Given the description of an element on the screen output the (x, y) to click on. 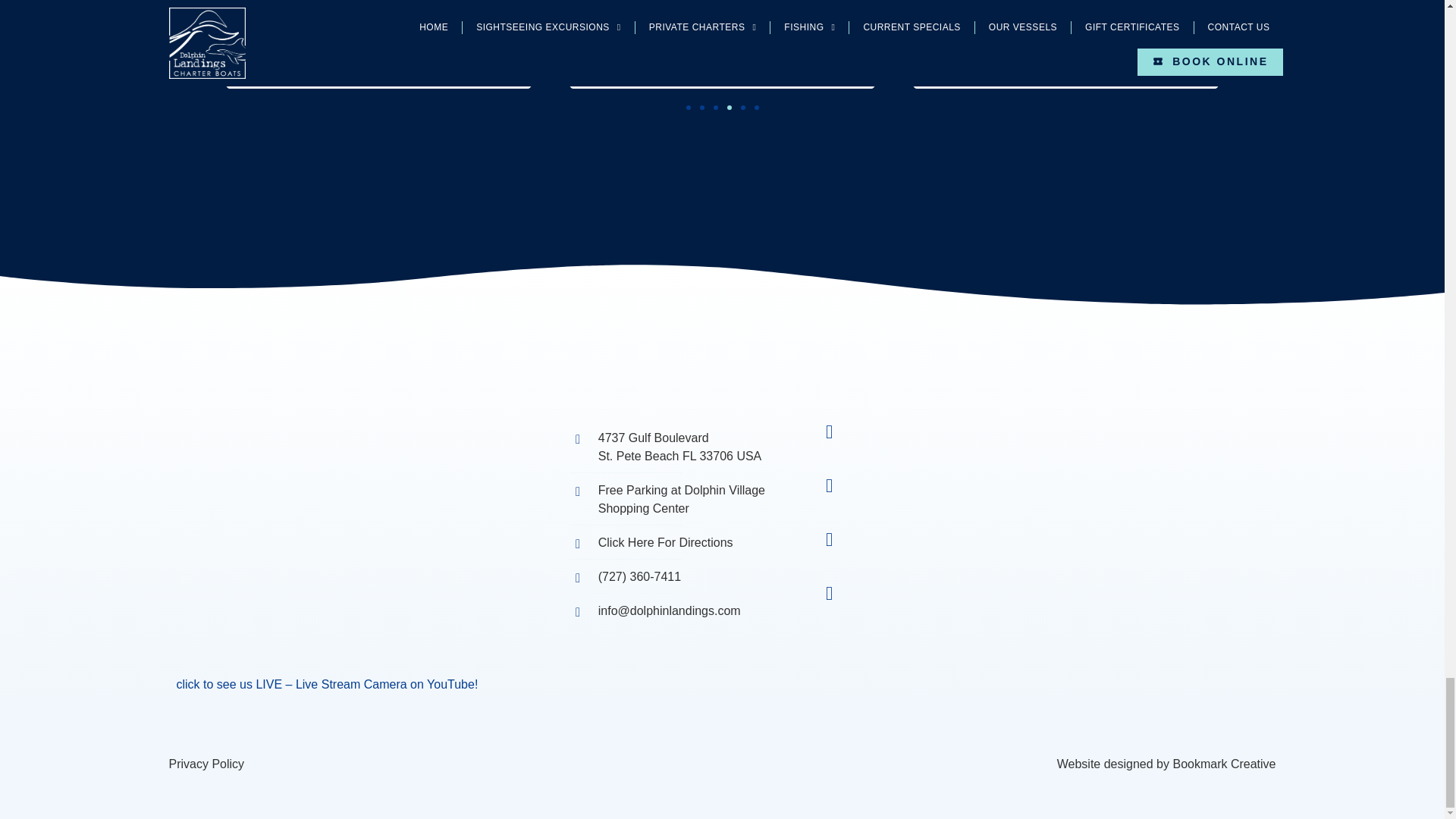
YouTube video player (350, 573)
